Given the description of an element on the screen output the (x, y) to click on. 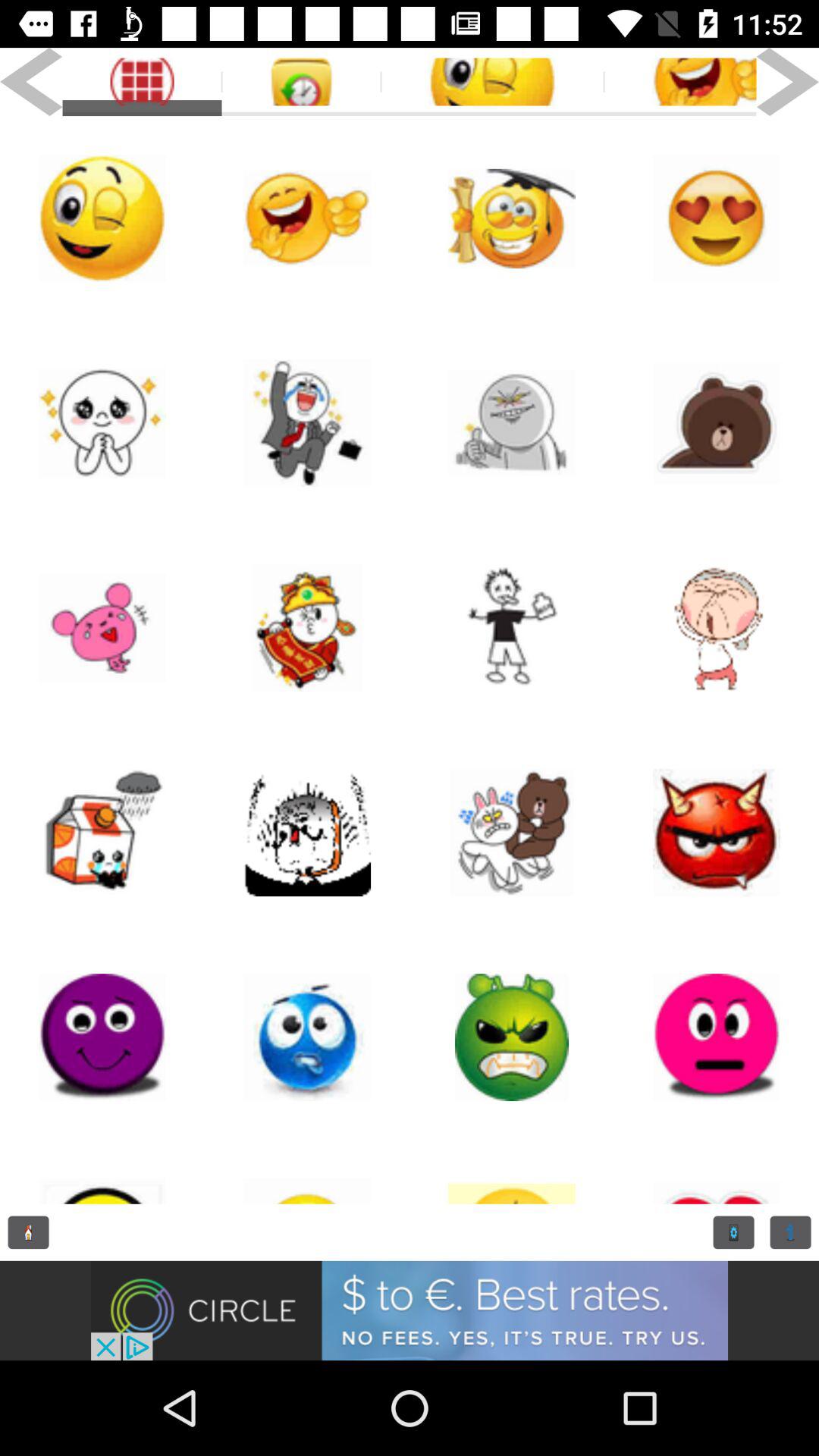
laugh emoji (306, 218)
